Given the description of an element on the screen output the (x, y) to click on. 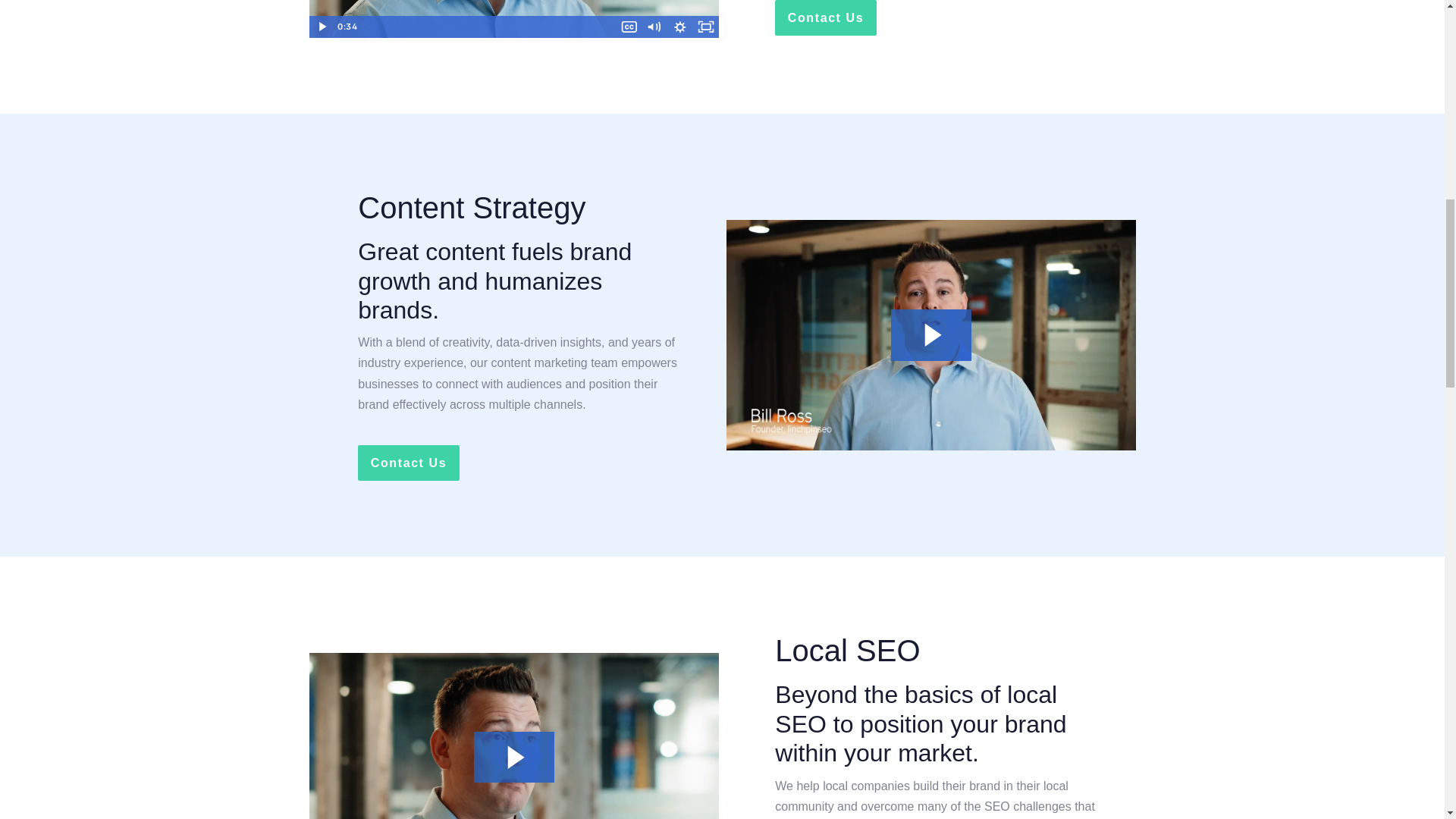
Play Video (321, 26)
Show settings menu (679, 26)
Fullscreen (706, 26)
Contact Us (408, 462)
Contact (825, 18)
Linchpin - SEO Video (513, 735)
Show captions menu (628, 26)
Contact (408, 462)
Mute (654, 26)
Contact Us (825, 18)
Linchpin - Content Strategy Video (930, 335)
